Given the description of an element on the screen output the (x, y) to click on. 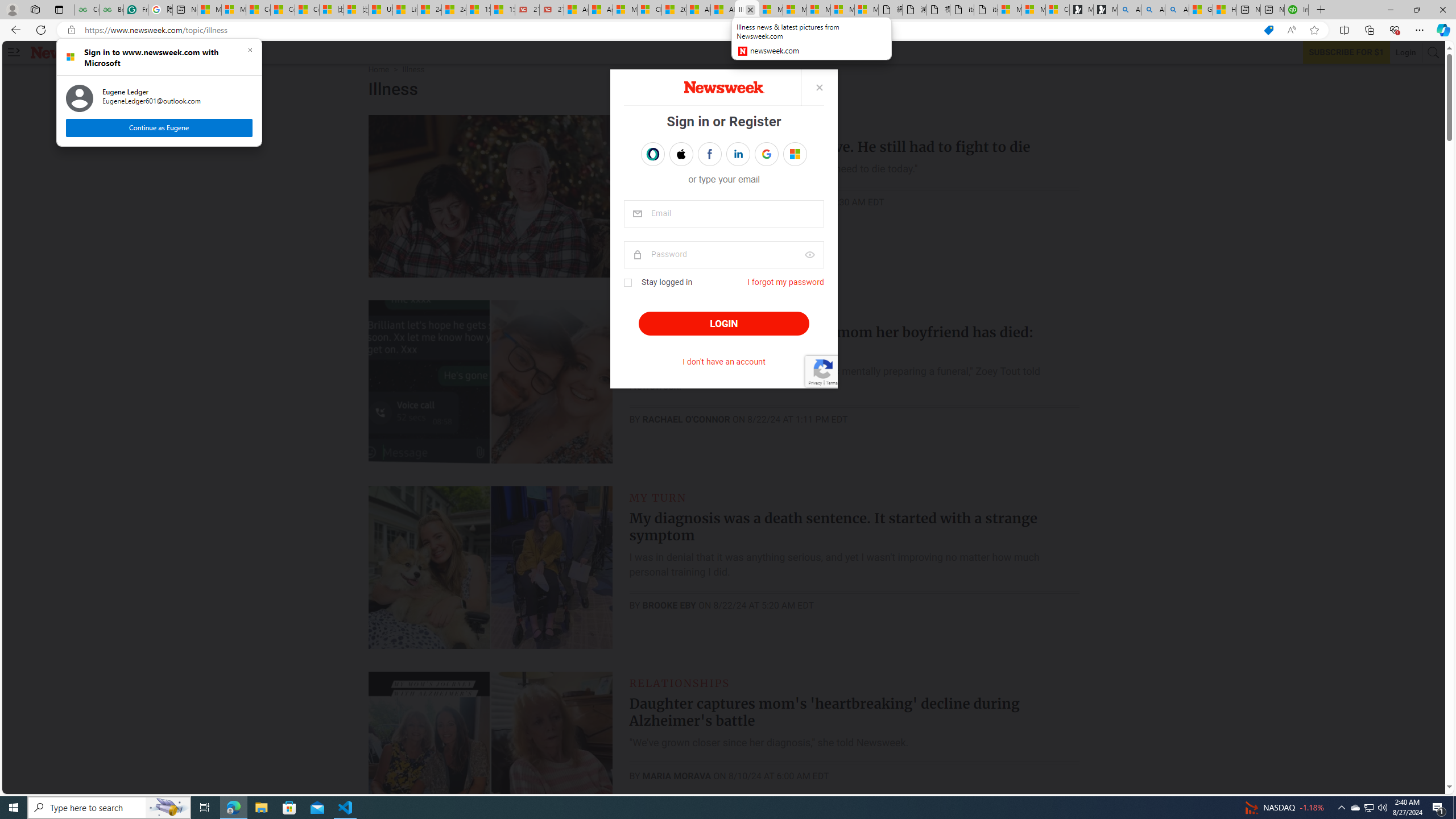
Continue as Eugene (158, 127)
Login (1405, 51)
15 Ways Modern Life Contradicts the Teachings of Jesus (502, 9)
Cloud Computing Services | Microsoft Azure (648, 9)
email (723, 213)
Sign in with LINKEDIN (737, 154)
Class: checkbox (627, 282)
